Given the description of an element on the screen output the (x, y) to click on. 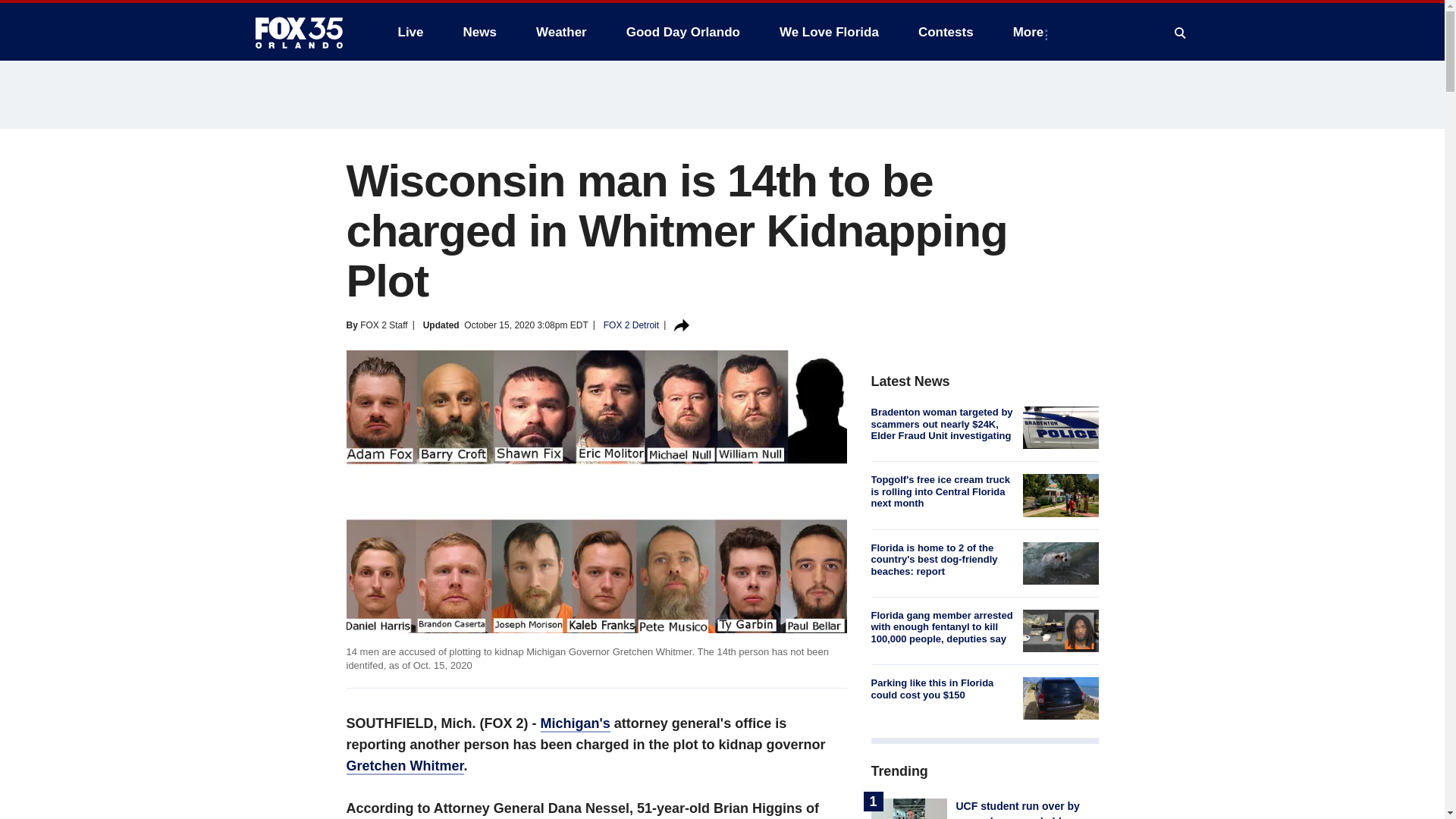
Live (410, 32)
We Love Florida (829, 32)
Weather (561, 32)
Contests (945, 32)
More (1031, 32)
News (479, 32)
Good Day Orlando (683, 32)
